Given the description of an element on the screen output the (x, y) to click on. 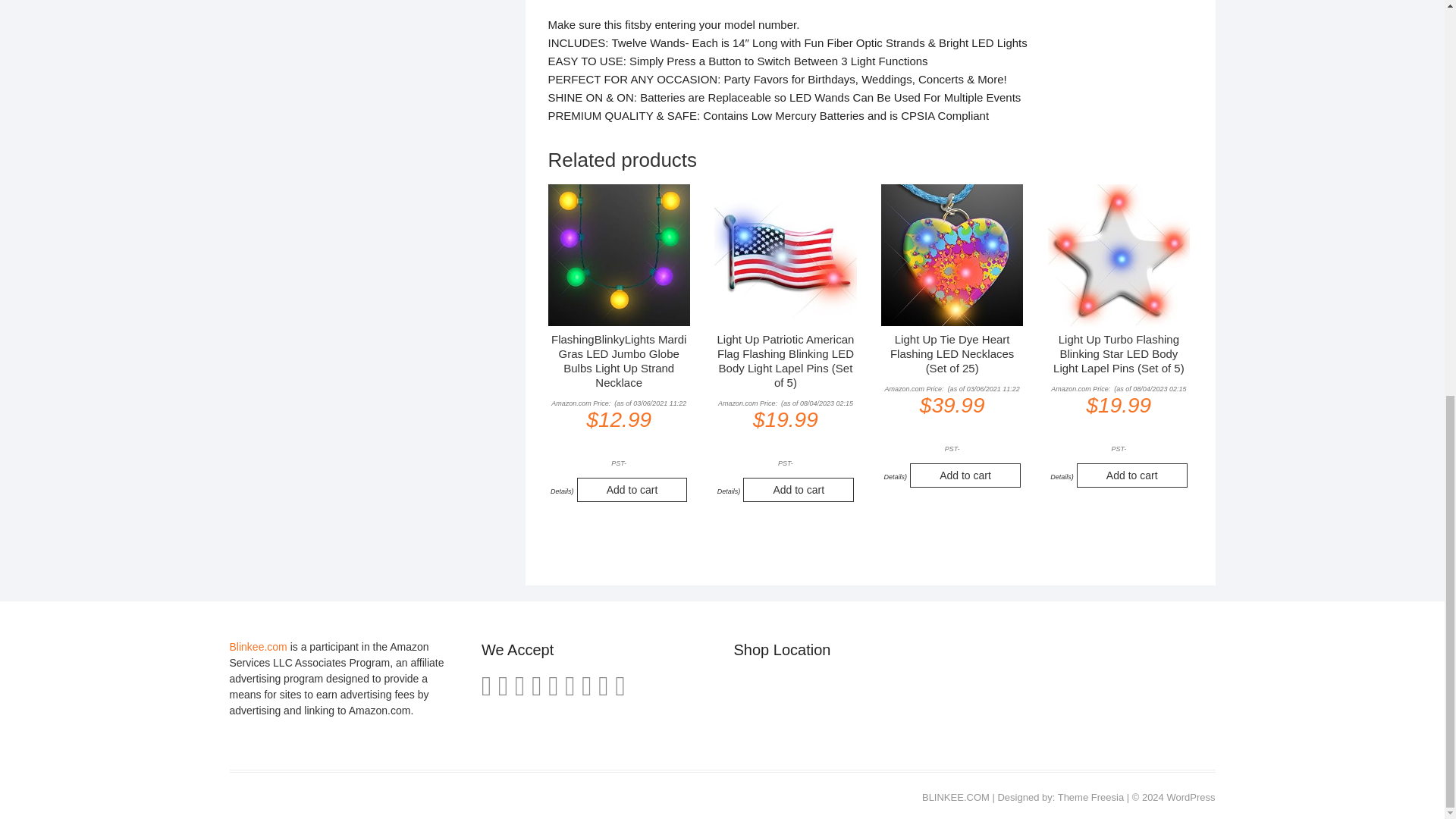
Details (727, 491)
Mastercard (502, 685)
Creditcards (585, 685)
Diners Club (552, 685)
Stripe (603, 685)
Details (561, 491)
Details (893, 476)
Add to cart (631, 489)
Discover Card (569, 685)
American Express (486, 685)
Visa (519, 685)
Paypal  (536, 685)
Add to cart (797, 489)
